Given the description of an element on the screen output the (x, y) to click on. 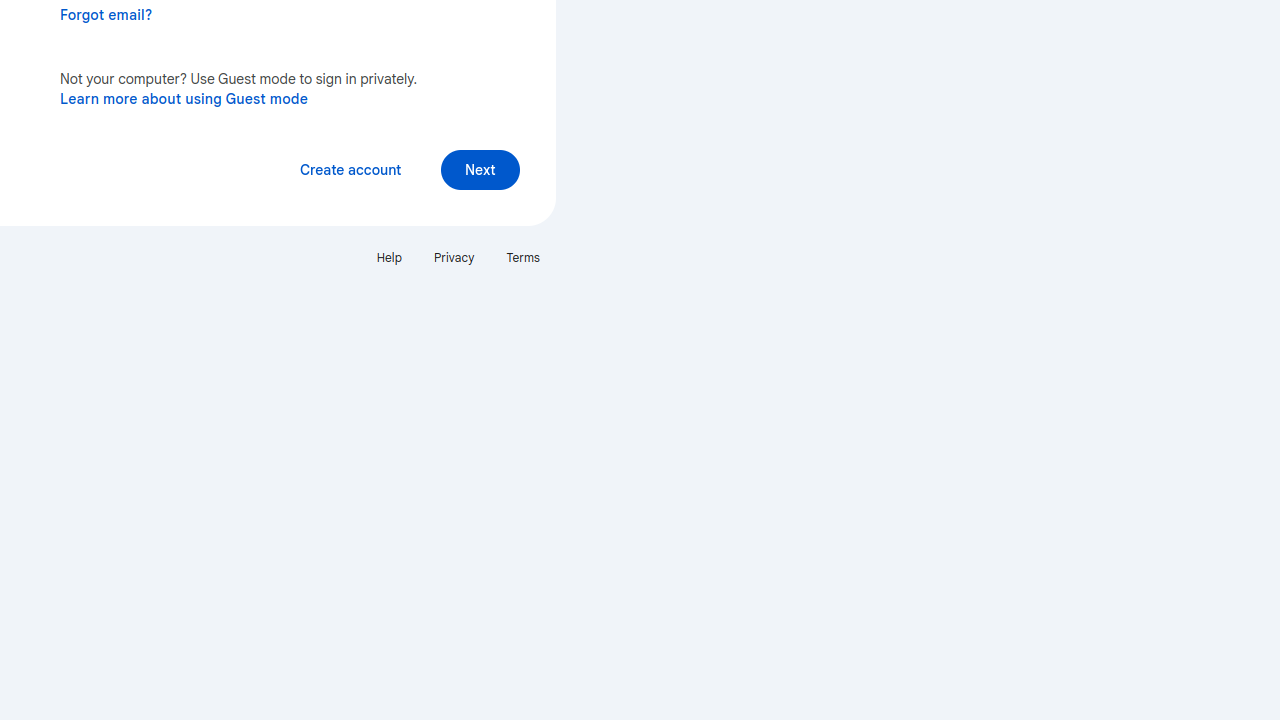
Next Element type: push-button (480, 170)
